Given the description of an element on the screen output the (x, y) to click on. 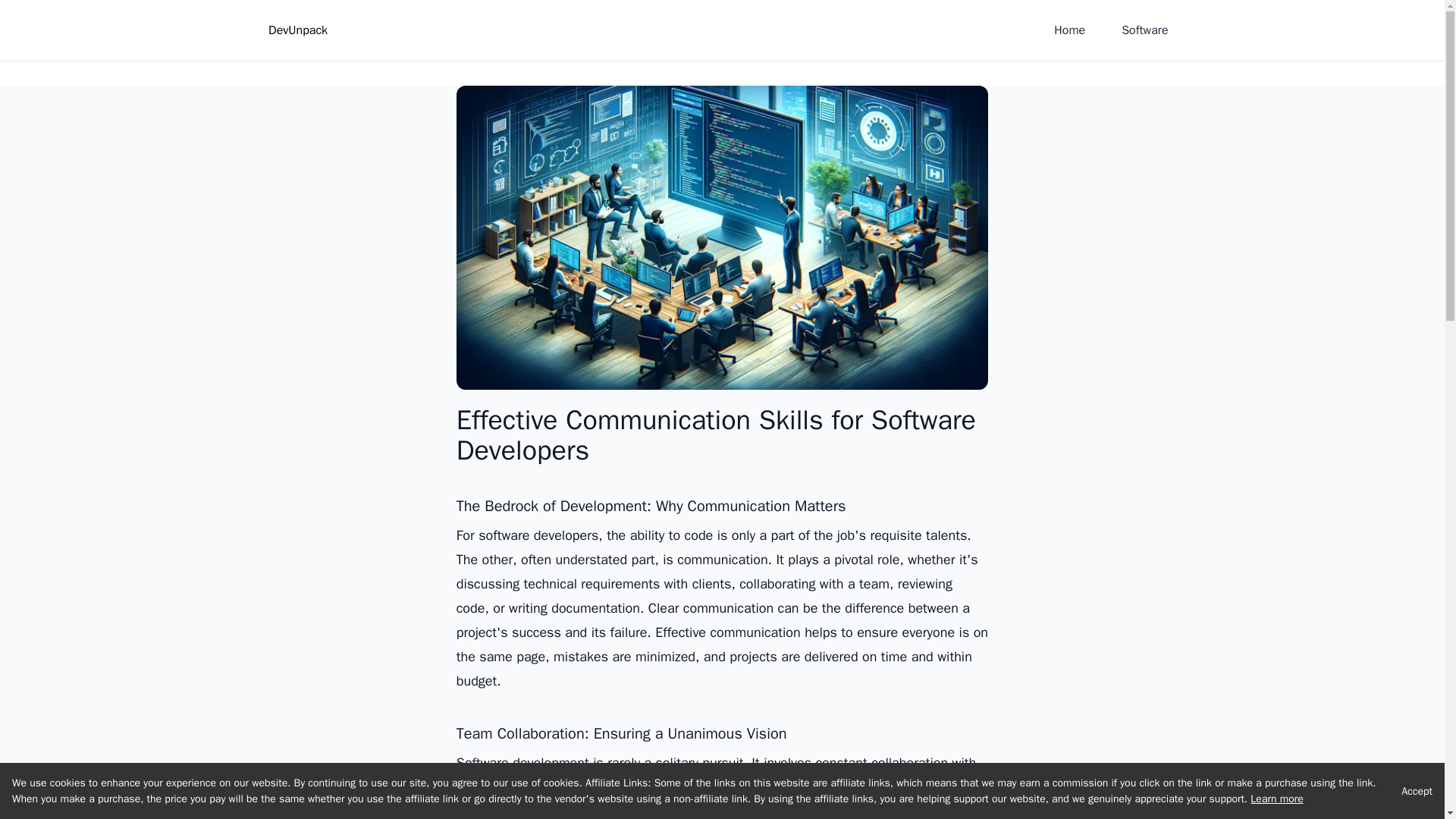
Home (1069, 29)
Learn more (1276, 798)
Accept (1416, 790)
  DevUnpack (293, 30)
Software (1144, 29)
